Given the description of an element on the screen output the (x, y) to click on. 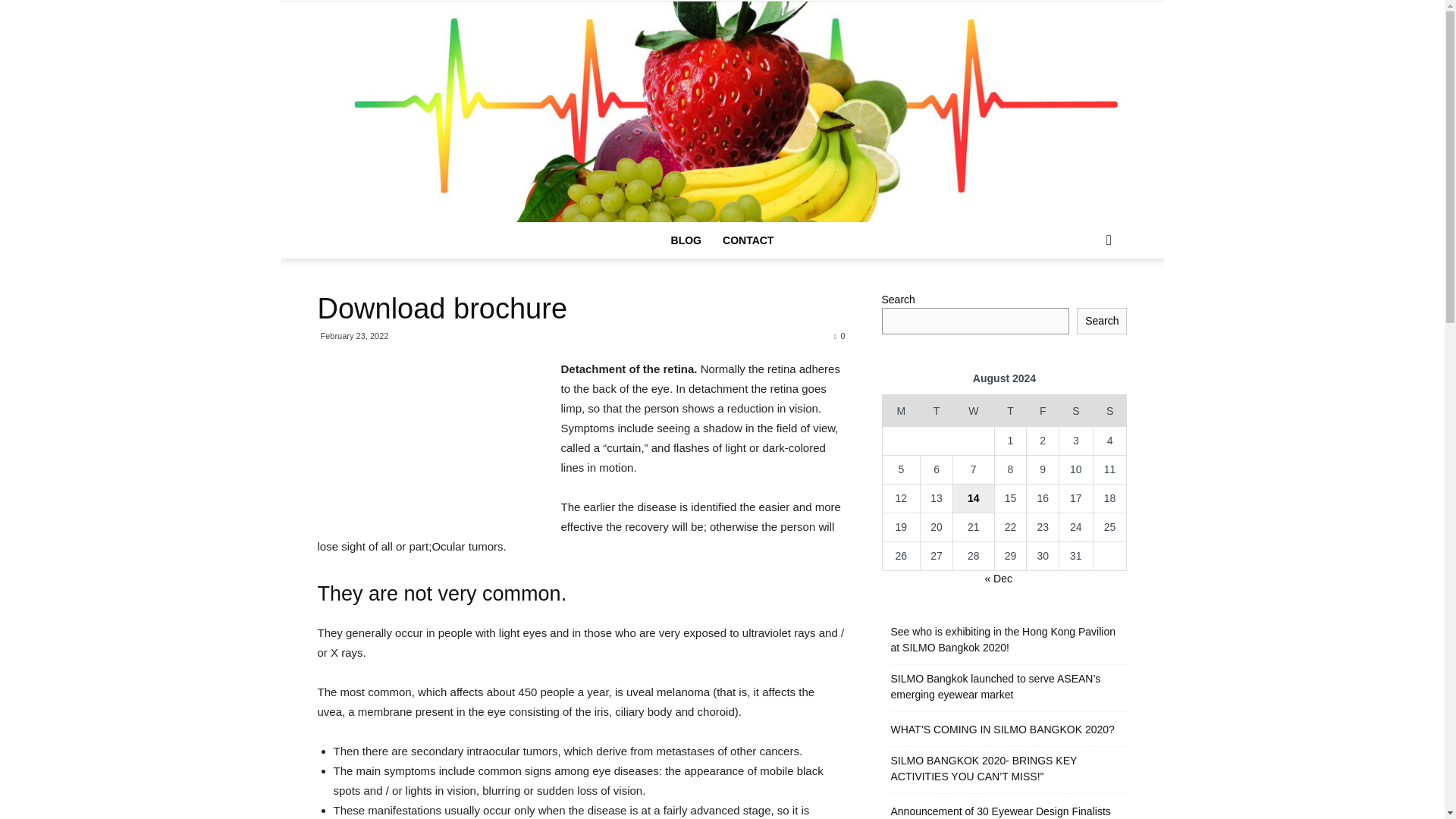
Search (1085, 300)
Monday (901, 409)
CONTACT (747, 239)
0 (839, 335)
Search (1101, 320)
BLOG (686, 239)
Thursday (1010, 409)
Sunday (1109, 409)
Wednesday (973, 409)
Saturday (1076, 409)
